Given the description of an element on the screen output the (x, y) to click on. 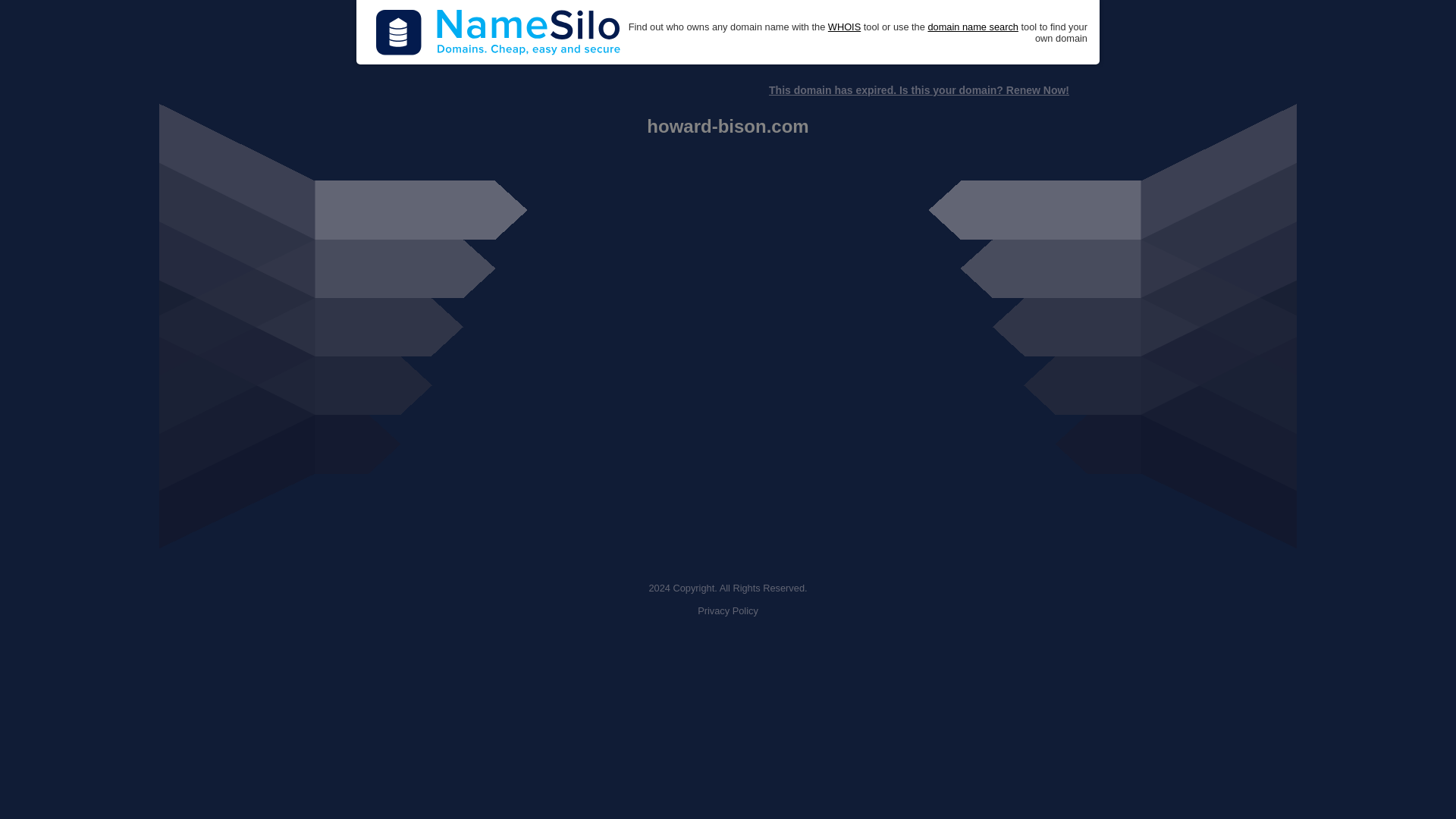
domain name search (972, 26)
Privacy Policy (727, 610)
WHOIS (844, 26)
This domain has expired. Is this your domain? Renew Now! (918, 90)
